Given the description of an element on the screen output the (x, y) to click on. 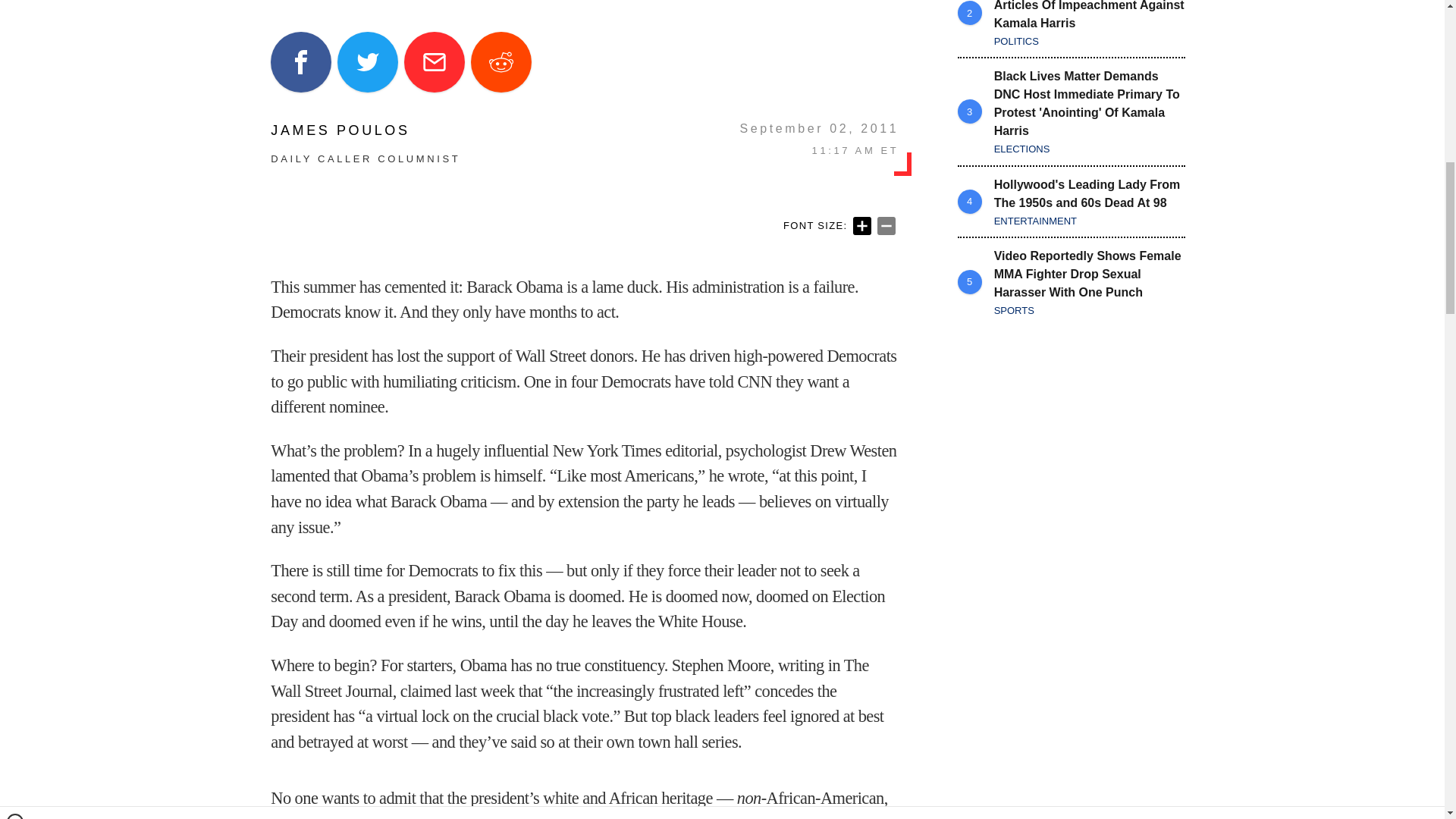
JAMES POULOS (365, 130)
Close window (14, 6)
View More Articles By James Poulos (365, 130)
